Given the description of an element on the screen output the (x, y) to click on. 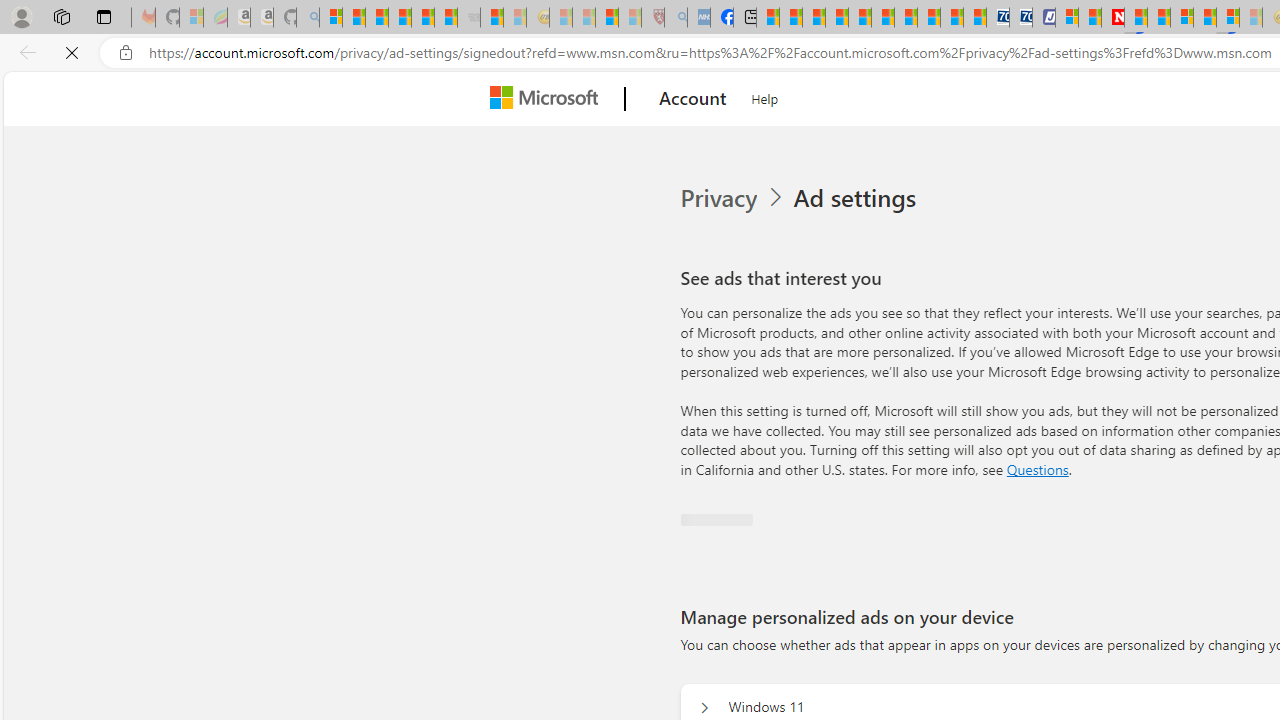
12 Popular Science Lies that Must be Corrected - Sleeping (630, 17)
